Given the description of an element on the screen output the (x, y) to click on. 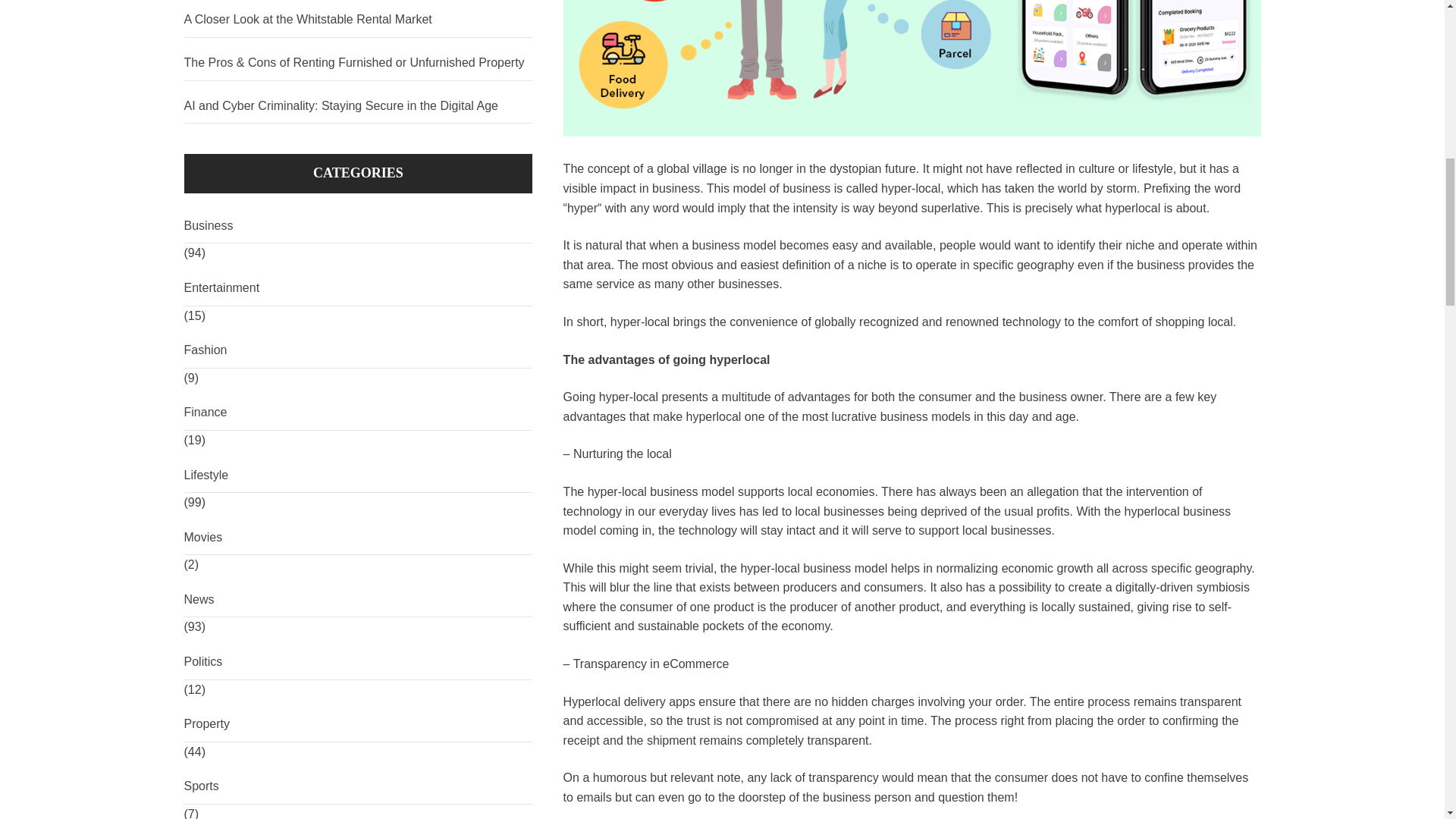
Fashion (357, 350)
Finance (357, 412)
News (357, 600)
Sports (357, 786)
Entertainment (357, 288)
Business (357, 226)
AI and Cyber Criminality: Staying Secure in the Digital Age (357, 106)
Lifestyle (357, 475)
Property (357, 724)
Movies (357, 538)
Politics (357, 662)
A Closer Look at the Whitstable Rental Market (357, 19)
